Given the description of an element on the screen output the (x, y) to click on. 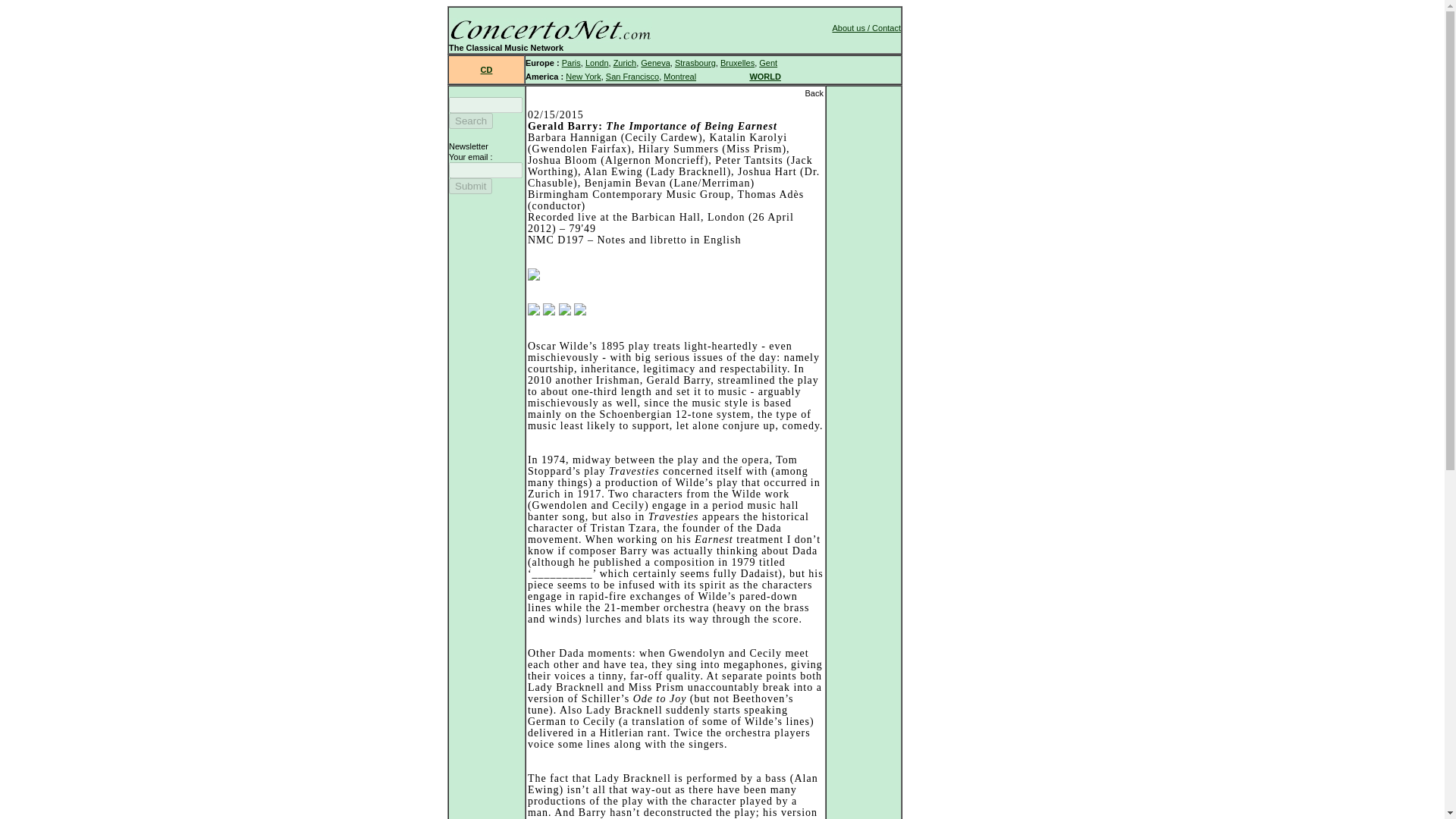
Montreal (679, 76)
New York (582, 76)
Submit (470, 186)
CD (486, 69)
Geneva (654, 62)
Search (470, 120)
Strasbourg (695, 62)
Submit (470, 186)
WORLD (764, 76)
Paris (571, 62)
